Given the description of an element on the screen output the (x, y) to click on. 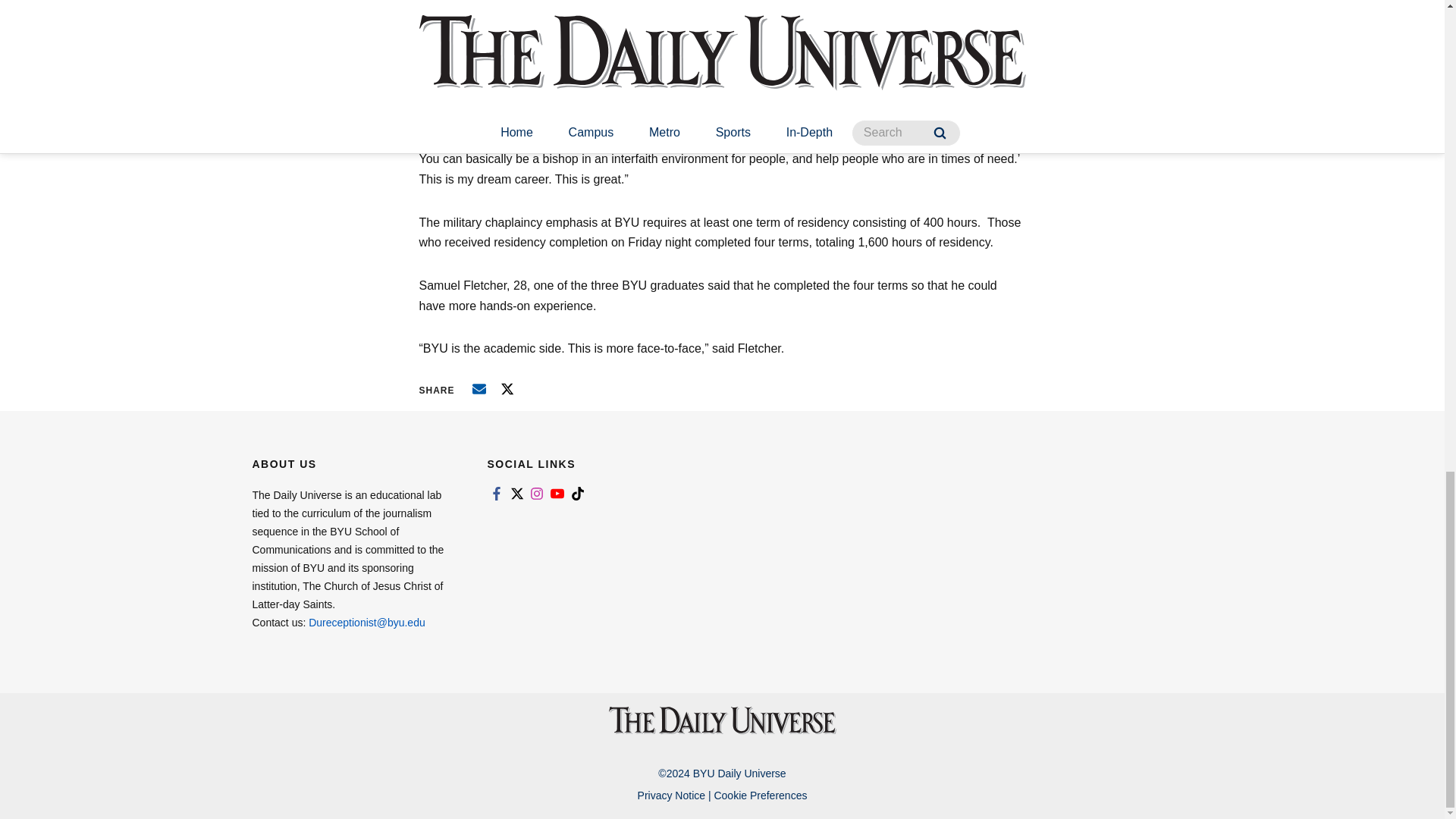
Link to facebook (495, 493)
Privacy Notice (670, 795)
Cookie Preferences (759, 795)
Link to instagram (536, 493)
Link to tiktok (577, 493)
Link to youtube (557, 493)
Email (478, 388)
Link to twitter (515, 493)
